Given the description of an element on the screen output the (x, y) to click on. 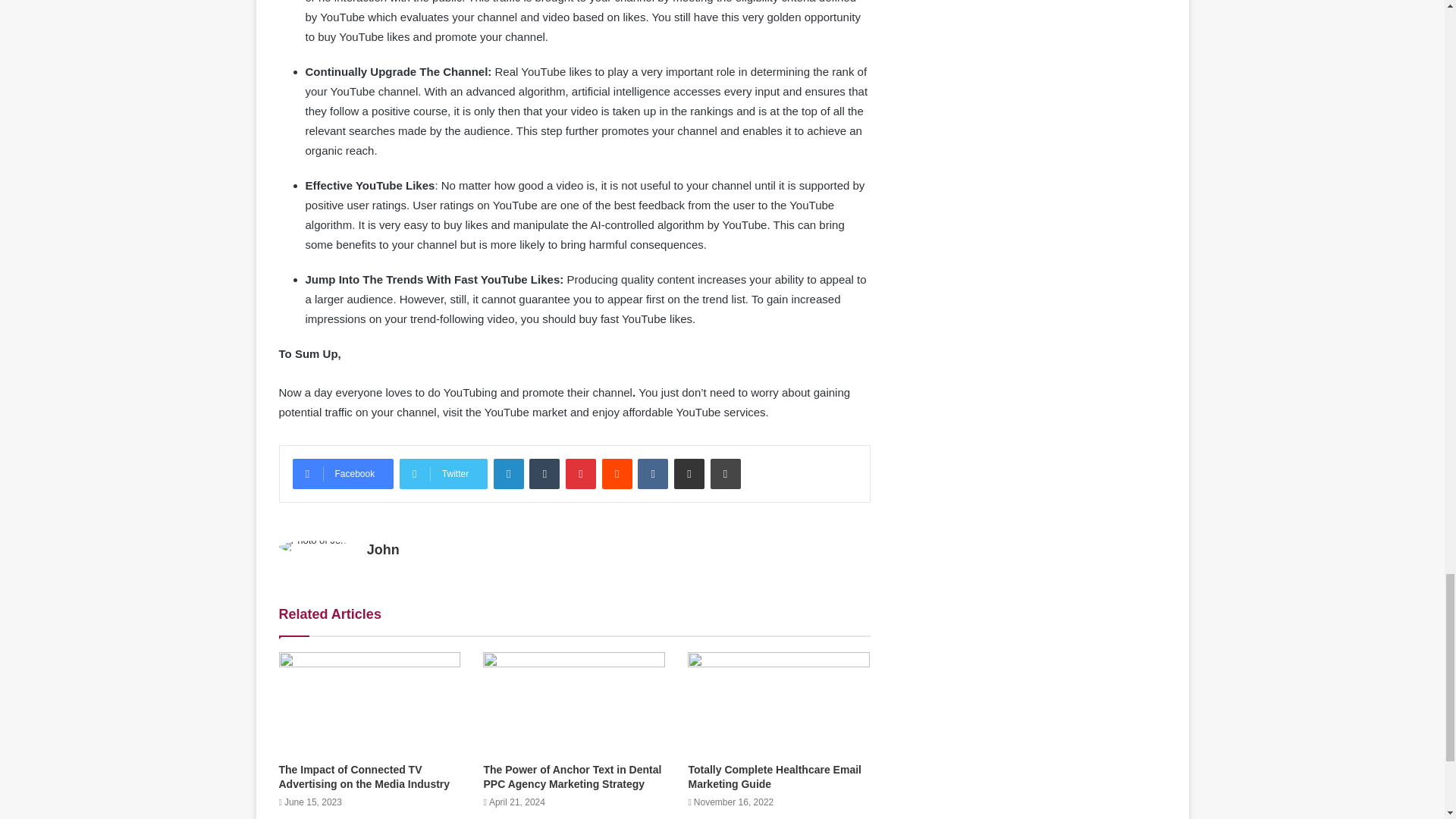
John (382, 549)
Share via Email (689, 473)
Tumblr (544, 473)
Reddit (616, 473)
Share via Email (689, 473)
Twitter (442, 473)
Facebook (343, 473)
The Impact of Connected TV Advertising on the Media Industry (364, 776)
VKontakte (652, 473)
Pinterest (580, 473)
Pinterest (580, 473)
Tumblr (544, 473)
LinkedIn (508, 473)
VKontakte (652, 473)
Reddit (616, 473)
